Given the description of an element on the screen output the (x, y) to click on. 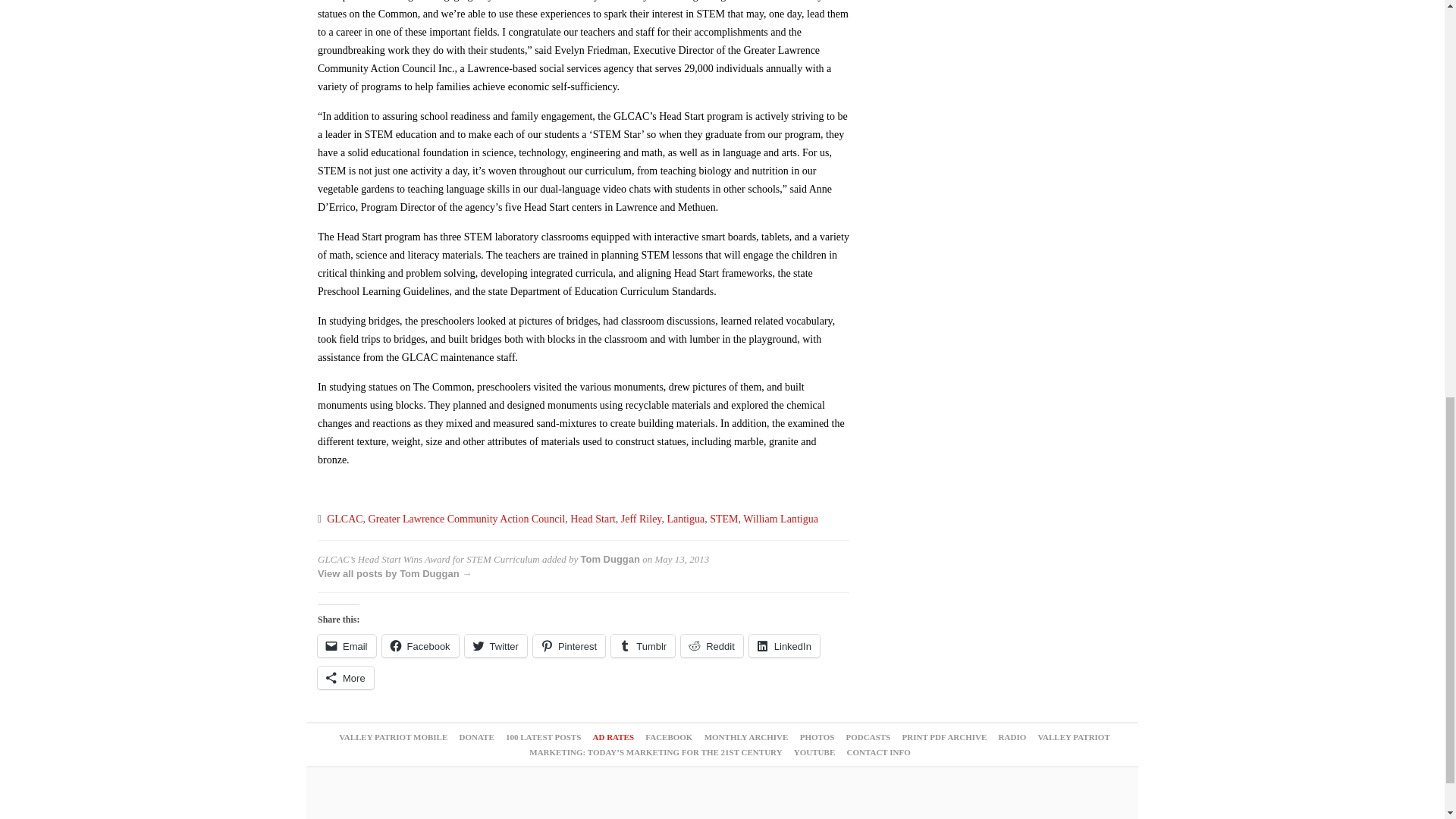
Click to share on Twitter (495, 645)
Click to share on Reddit (711, 645)
Click to email a link to a friend (346, 645)
Jeff Riley (641, 518)
Click to share on LinkedIn (784, 645)
Click to share on Tumblr (643, 645)
Greater Lawrence Community Action Council (467, 518)
Click to share on Pinterest (568, 645)
Head Start (592, 518)
Click to share on Facebook (419, 645)
